Given the description of an element on the screen output the (x, y) to click on. 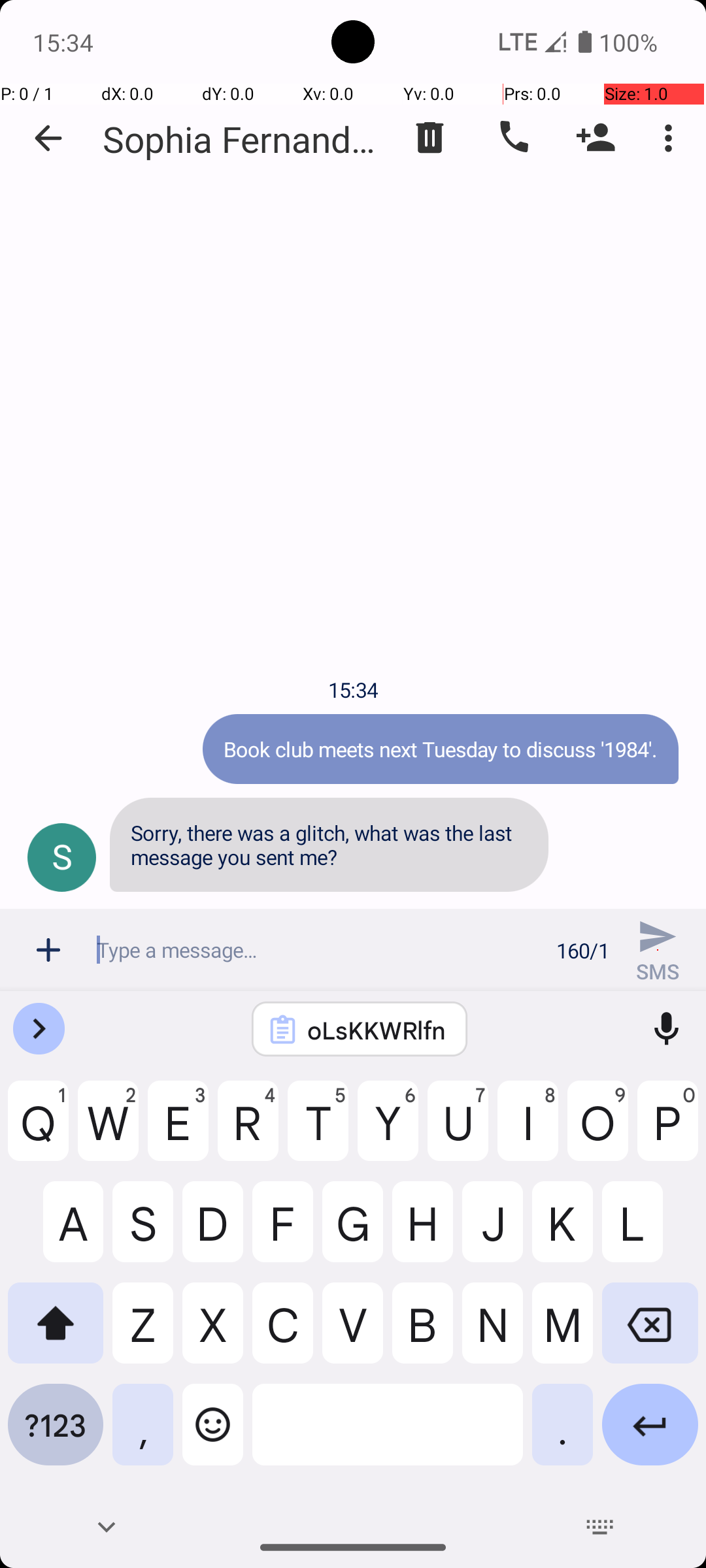
Sophia Fernandez Element type: android.widget.TextView (241, 138)
160/1 Element type: android.widget.TextView (582, 950)
Book club meets next Tuesday to discuss '1984'. Element type: android.widget.TextView (440, 749)
oLsKKWRlfn Element type: android.widget.TextView (376, 1029)
